Given the description of an element on the screen output the (x, y) to click on. 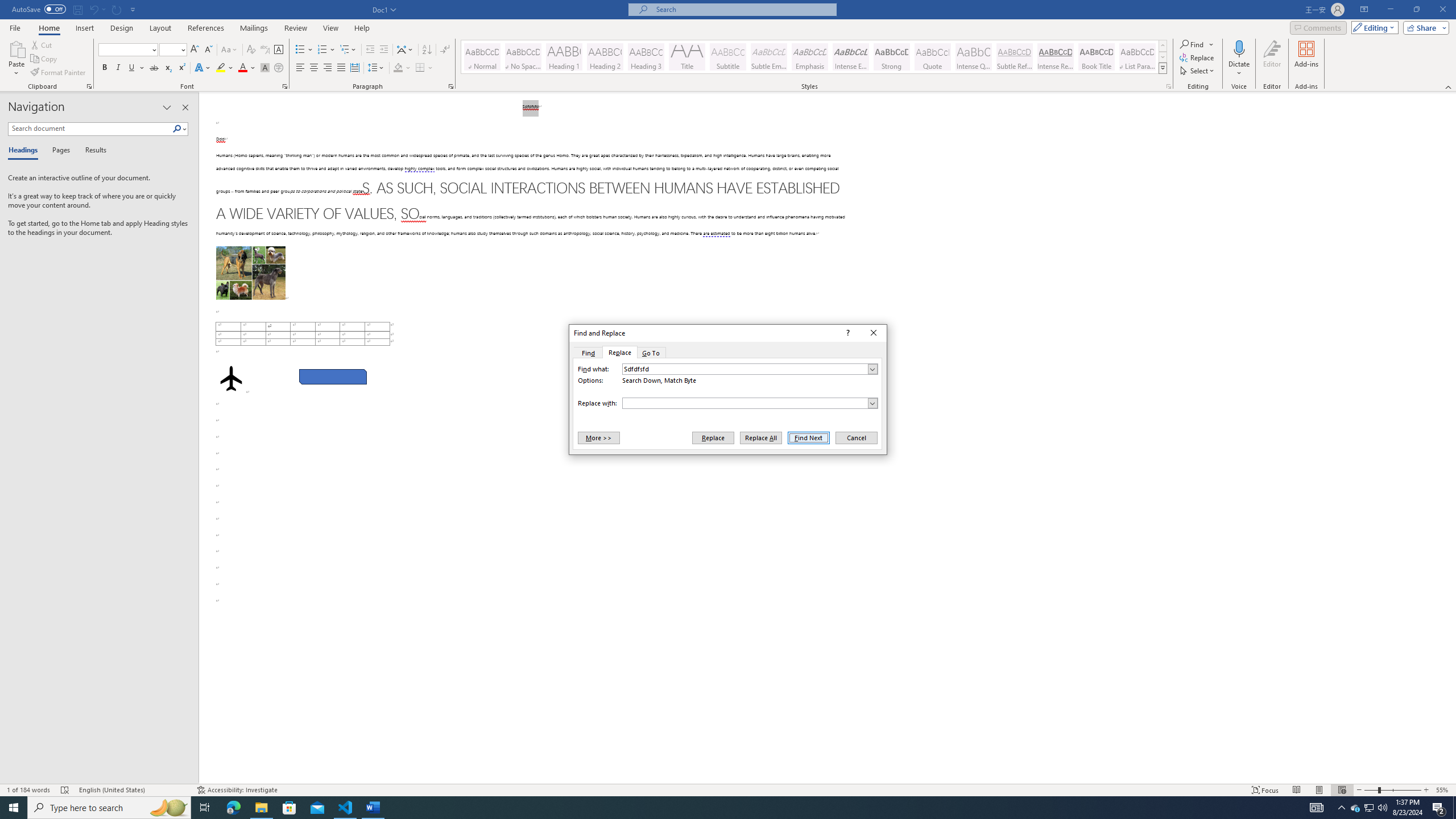
Ribbon Display Options (1364, 9)
Dictate (1238, 48)
Cancel (855, 437)
Font... (285, 85)
Minimize (1390, 9)
Microsoft Edge (233, 807)
Accessibility Checker Accessibility: Investigate (237, 790)
Find (587, 352)
Context help (847, 333)
Microsoft Store (289, 807)
Numbering (322, 49)
Collapse the Ribbon (1448, 86)
